Given the description of an element on the screen output the (x, y) to click on. 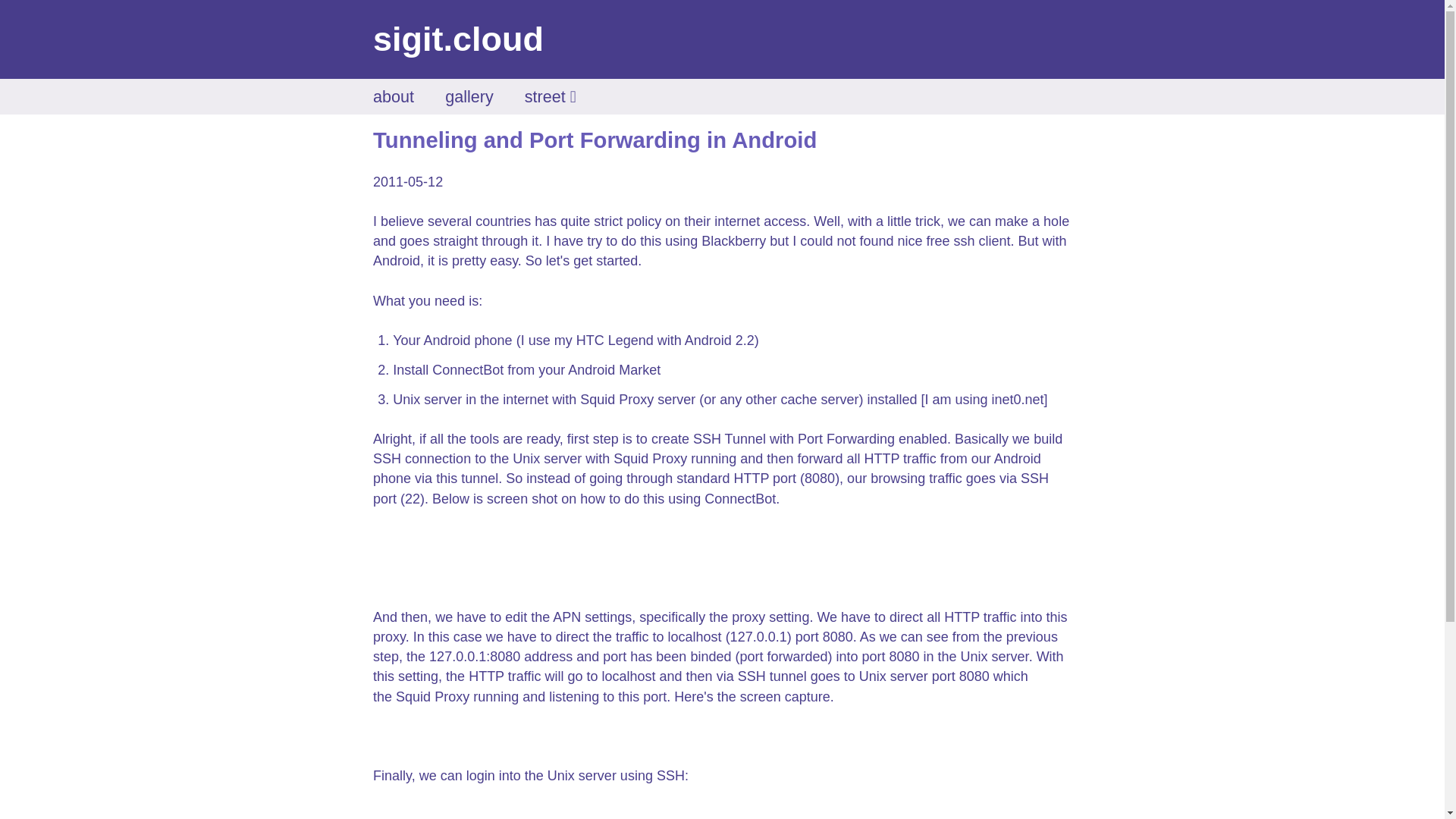
Squid Proxy (616, 399)
ConnectBot (467, 369)
Squid Proxy (649, 458)
sigit.cloud (457, 38)
ConnectBot (740, 498)
gallery (469, 95)
Squid Proxy (432, 696)
about (392, 95)
HTC Legend (614, 340)
